Given the description of an element on the screen output the (x, y) to click on. 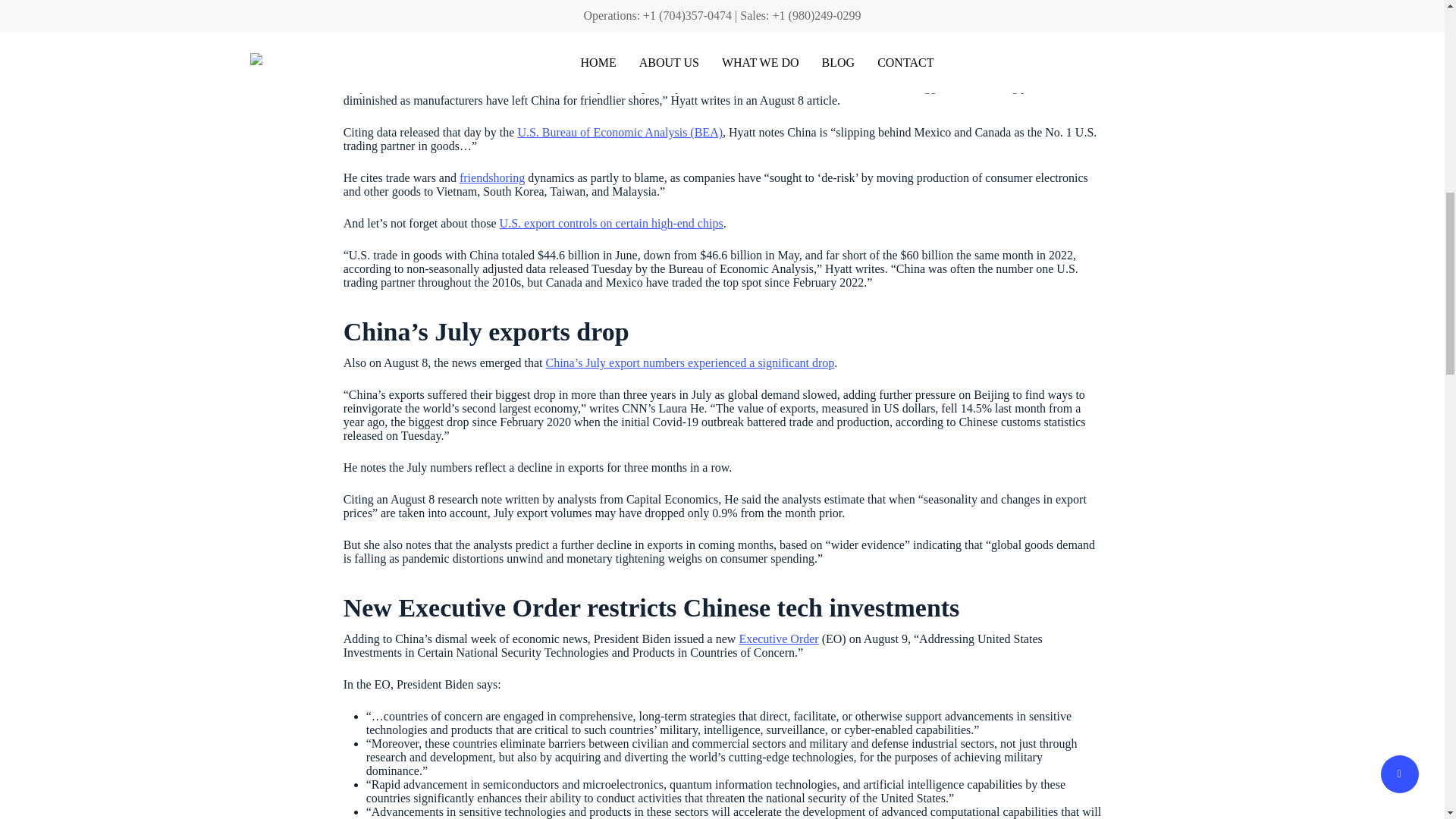
Executive Order (778, 638)
U.S. export controls on certain high-end chips (611, 223)
friendshoring (492, 177)
